Given the description of an element on the screen output the (x, y) to click on. 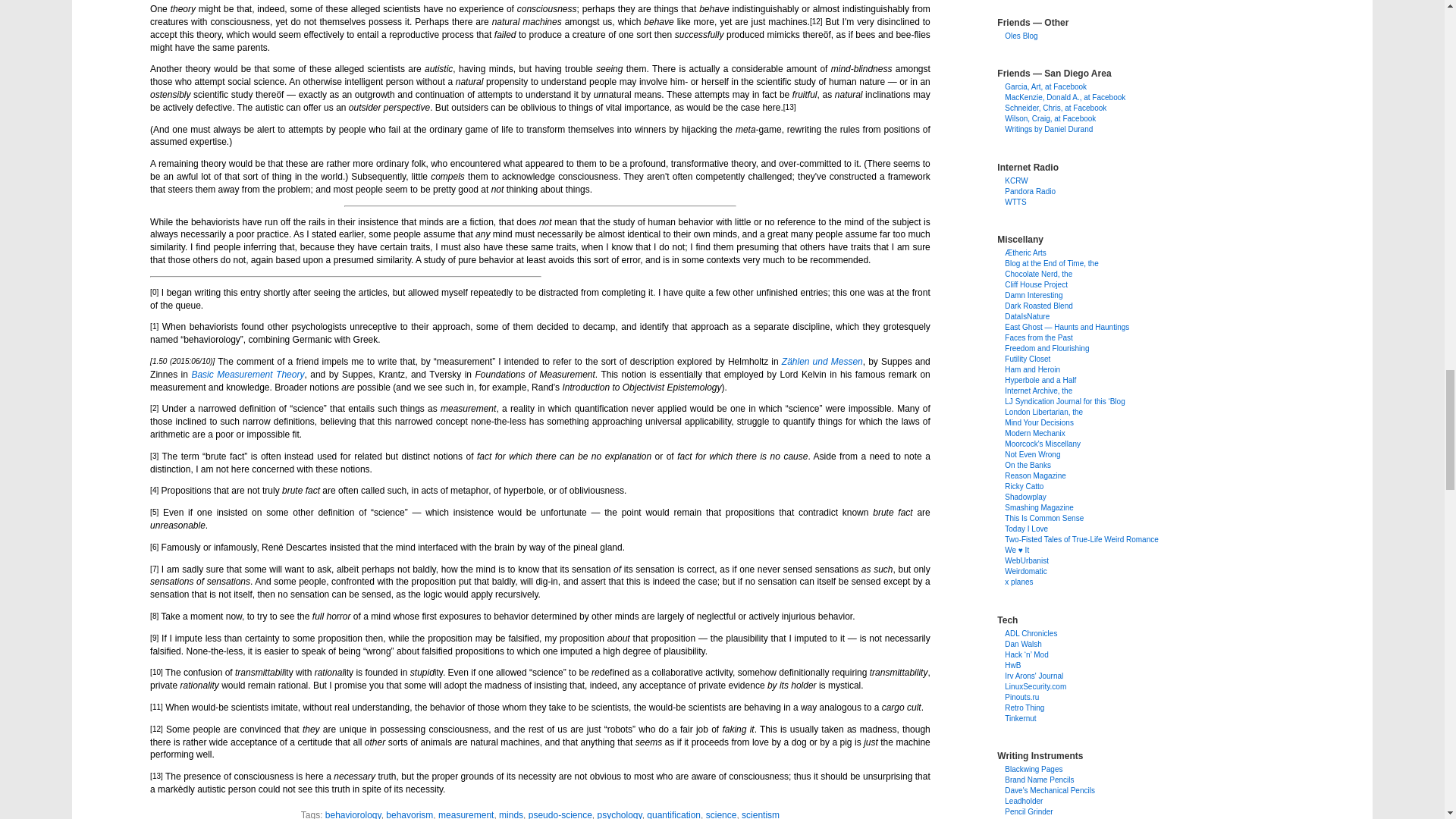
behaviorology (352, 814)
Basic Measurement Theory (247, 374)
measurement (465, 814)
behavorism (408, 814)
